Given the description of an element on the screen output the (x, y) to click on. 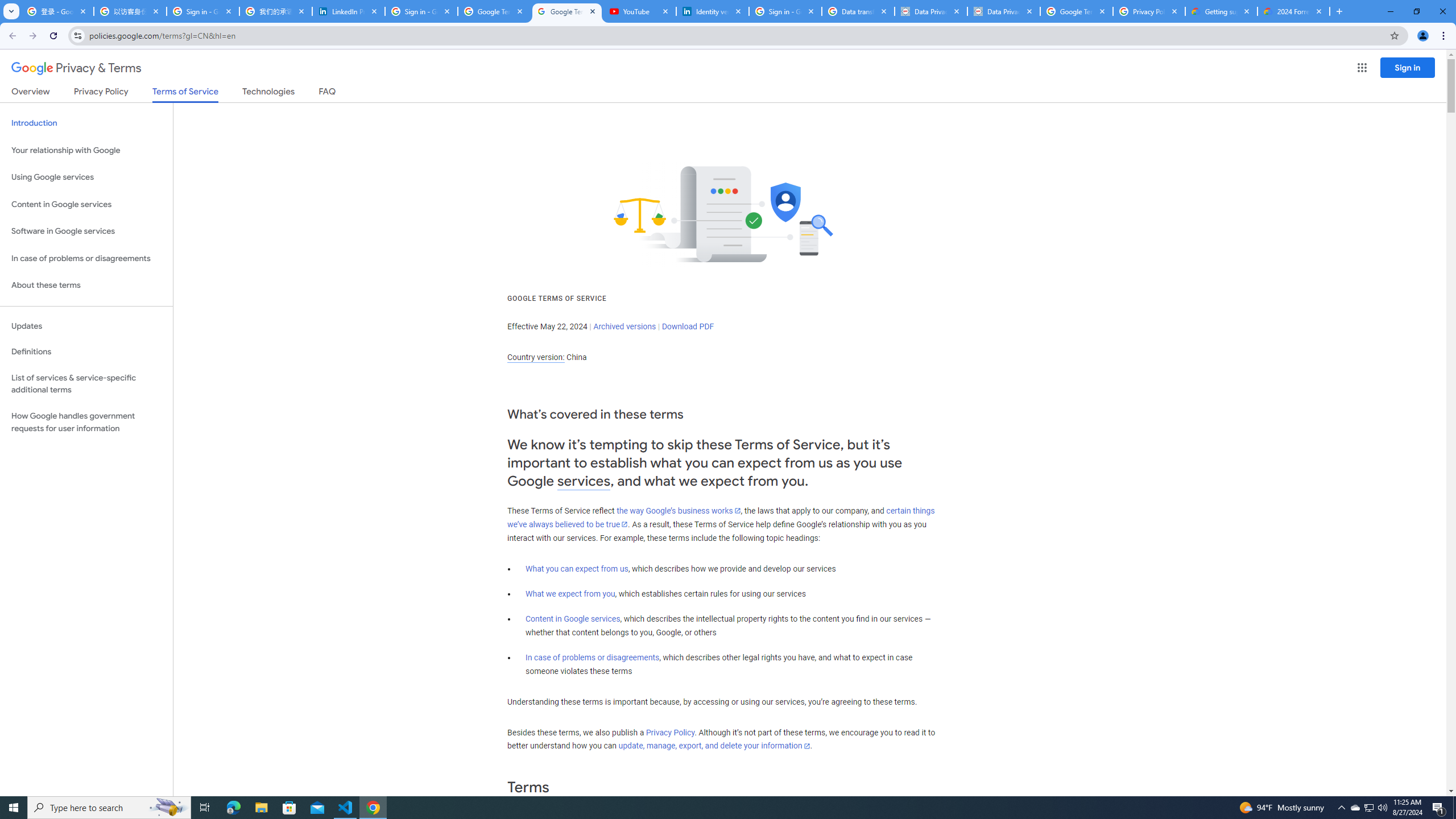
Close (1318, 11)
Sign in - Google Accounts (785, 11)
Using Google services (86, 176)
What you can expect from us (576, 568)
